Given the description of an element on the screen output the (x, y) to click on. 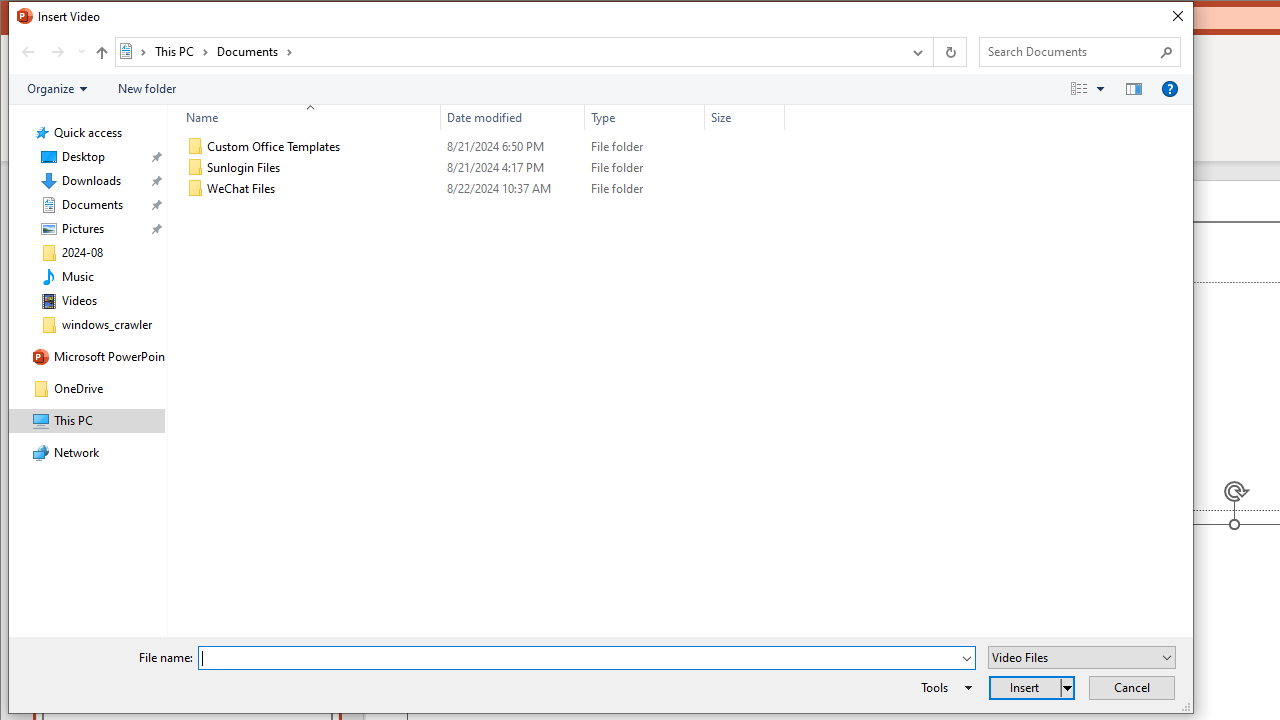
Size (744, 117)
Type (644, 117)
Previous Locations (916, 51)
Type (644, 188)
Name (322, 188)
Address band toolbar (932, 51)
Custom Office Templates (481, 146)
Tools (943, 687)
This PC (181, 51)
WeChat Files (481, 188)
Search Box (1069, 51)
Organize (56, 89)
Class: UIImage (195, 188)
Back (Alt + Left Arrow) (27, 51)
